Given the description of an element on the screen output the (x, y) to click on. 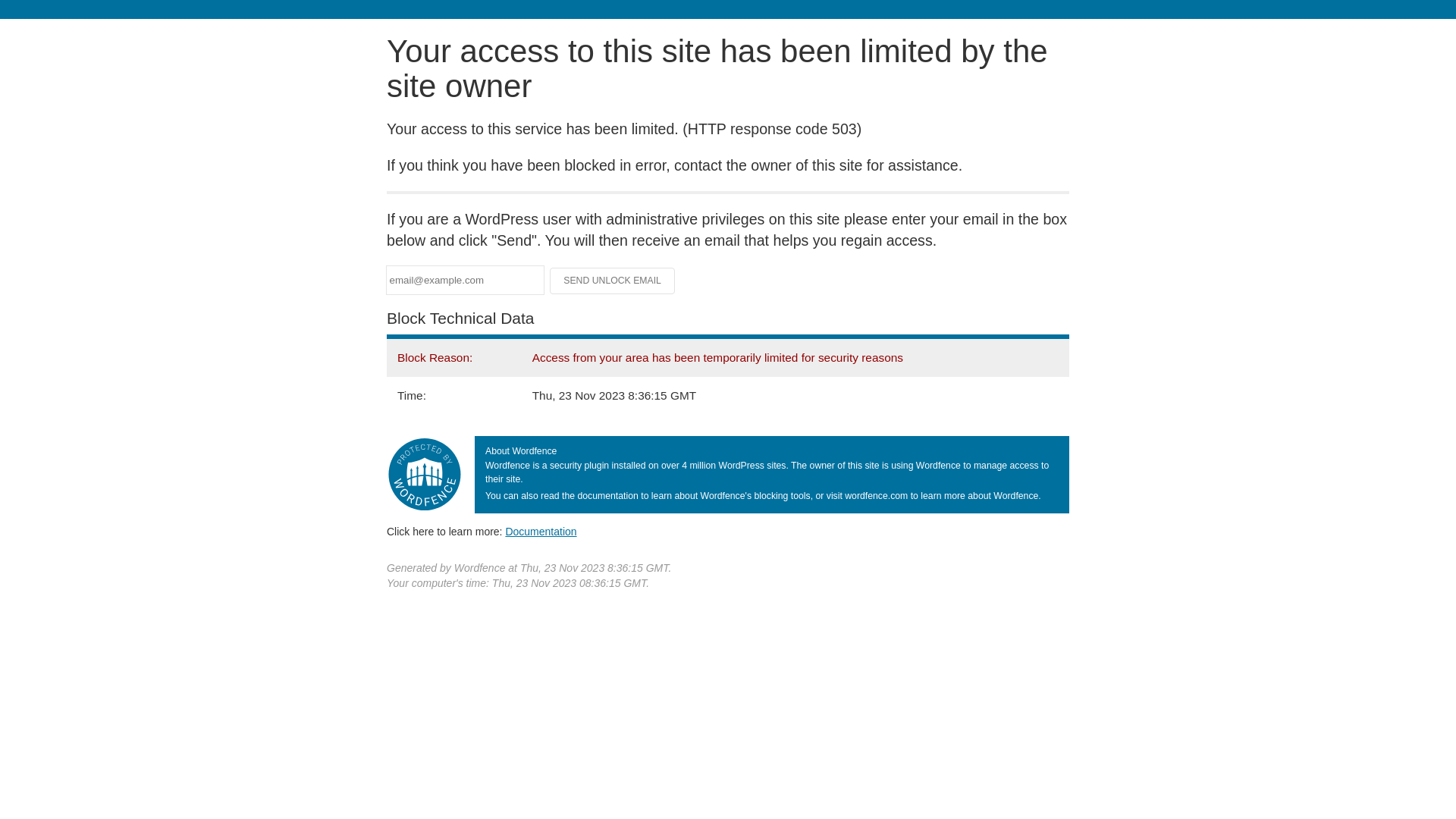
Send Unlock Email Element type: text (612, 280)
Documentation
(opens in new tab) Element type: text (540, 531)
